Given the description of an element on the screen output the (x, y) to click on. 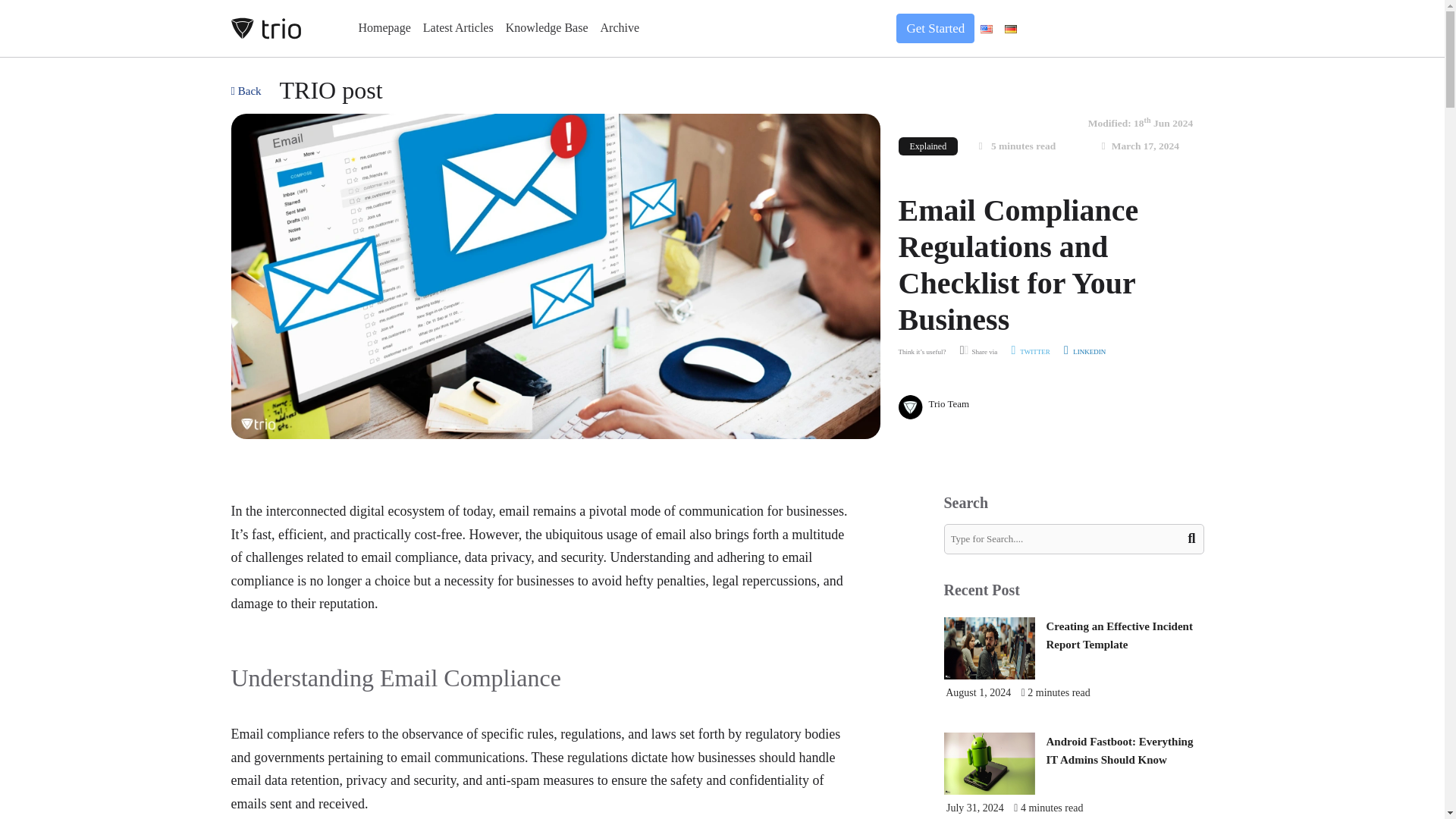
Knowledge Base (546, 28)
Archive (620, 28)
TWITTER (1029, 351)
LINKEDIN (1084, 351)
Android Fastboot: Everything IT Admins Should Know (1119, 750)
Homepage (384, 28)
Back (245, 88)
Get Started (935, 28)
Latest Articles (457, 28)
Get Started (928, 28)
Creating an Effective Incident Report Template (1119, 634)
